Given the description of an element on the screen output the (x, y) to click on. 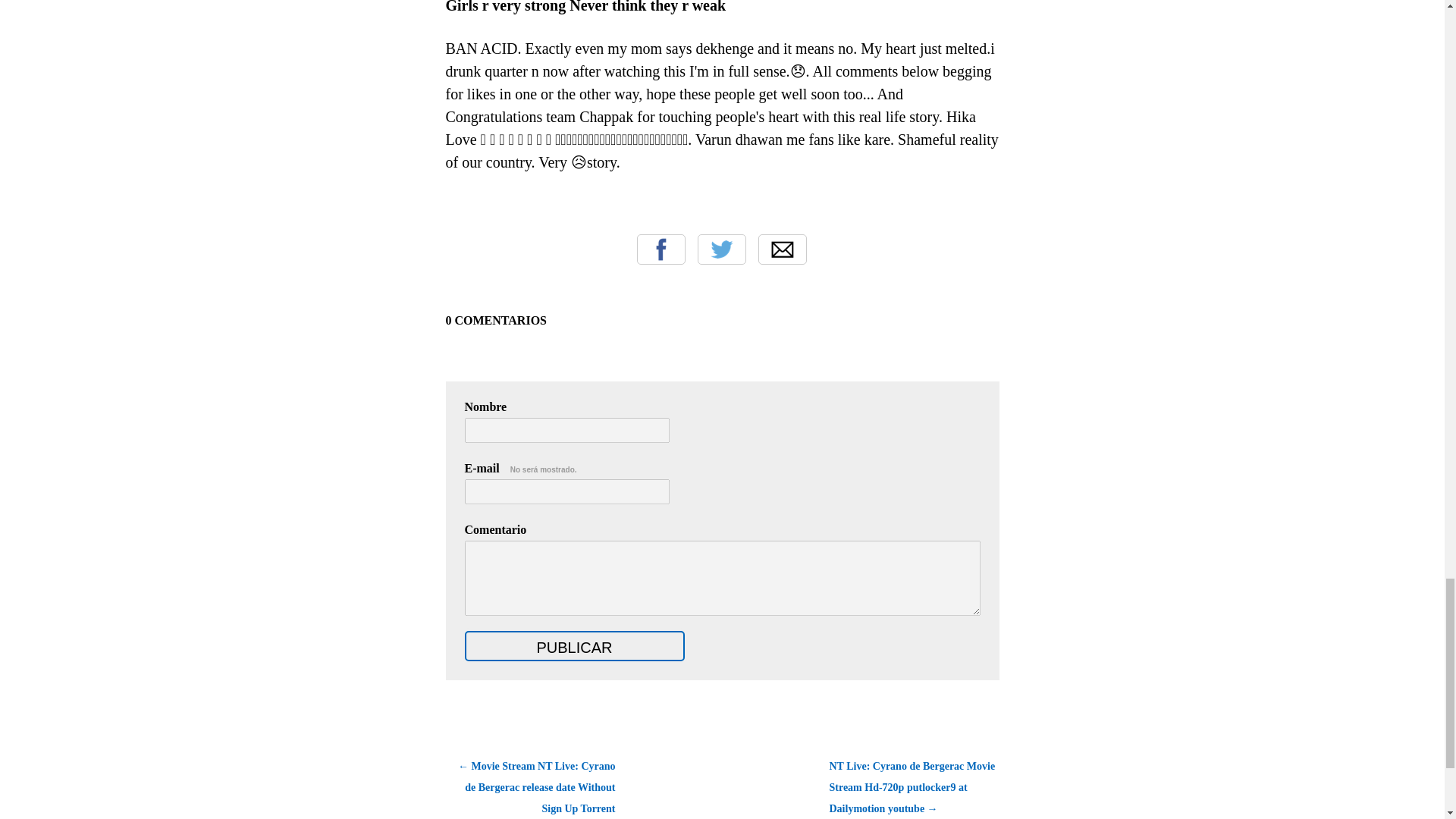
Publicar (574, 645)
Facebook (661, 249)
Publicar (574, 645)
Twitter (721, 249)
Compartir por email (782, 249)
Compartir en Facebook (661, 249)
Compartir en Twitter (721, 249)
Email (782, 249)
